Given the description of an element on the screen output the (x, y) to click on. 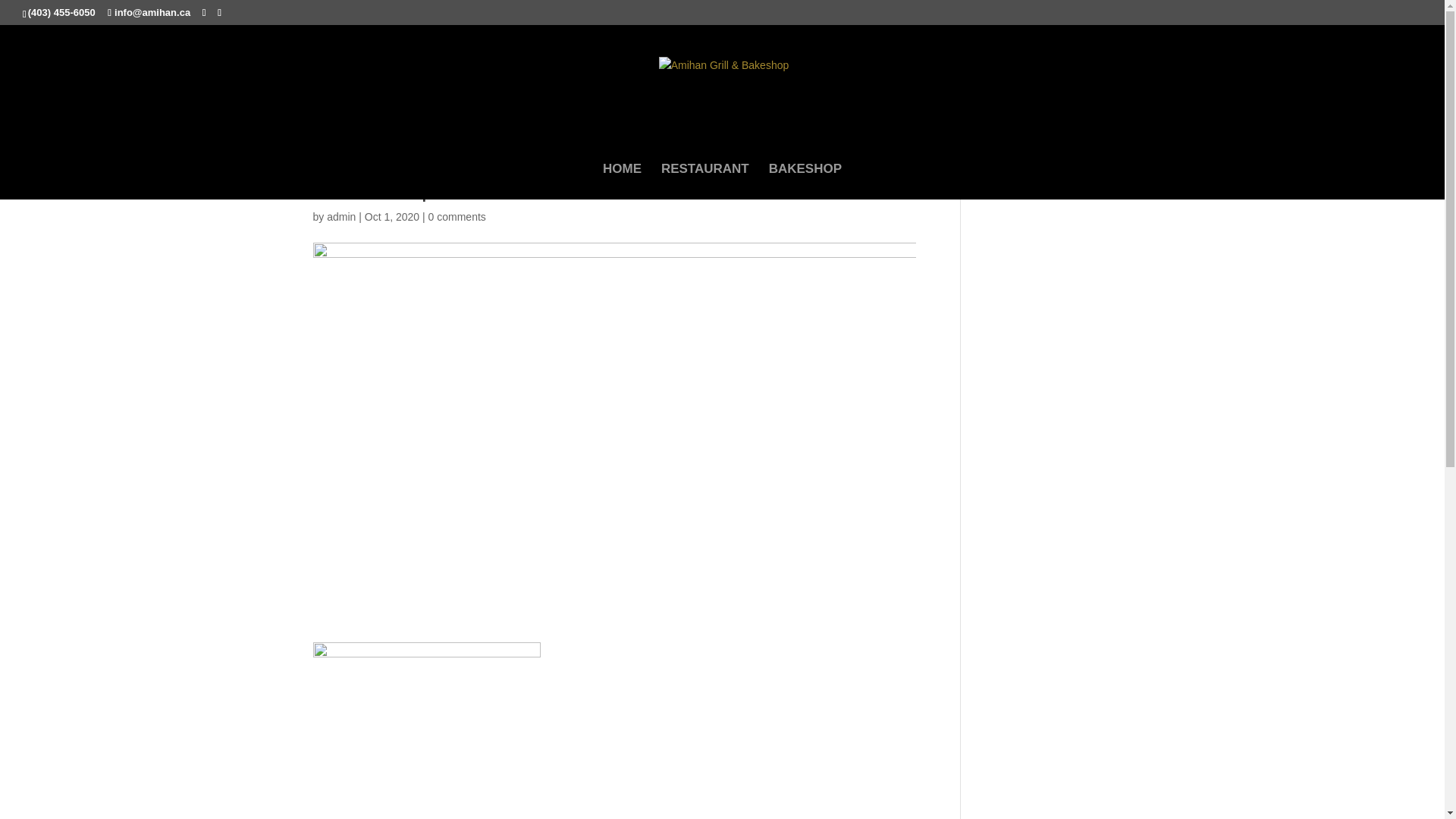
HOME Element type: text (621, 181)
RESTAURANT Element type: text (705, 181)
admin Element type: text (340, 216)
info@amihan.ca Element type: text (148, 12)
0 comments Element type: text (457, 216)
BAKESHOP Element type: text (804, 181)
